Given the description of an element on the screen output the (x, y) to click on. 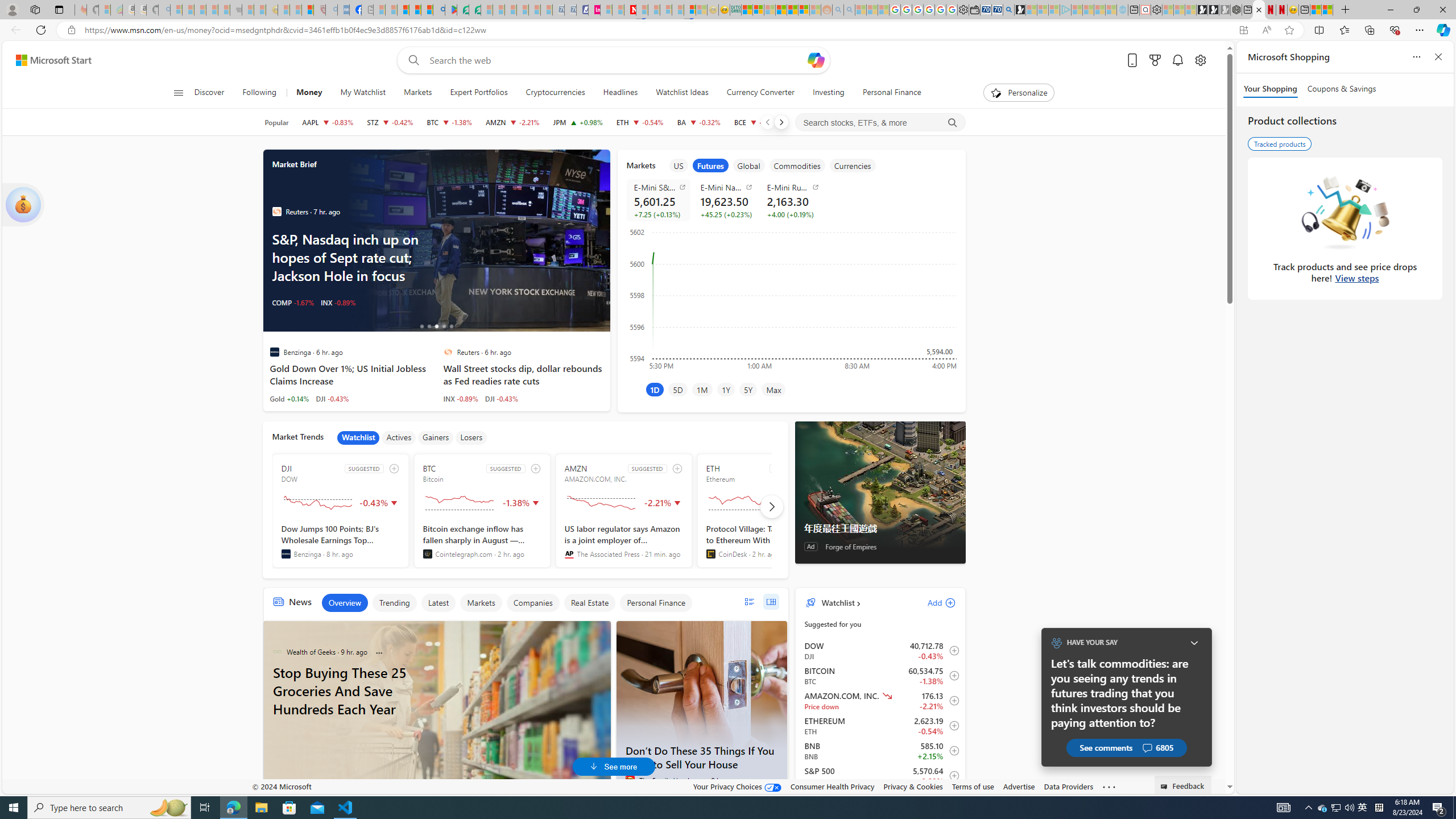
BCE BCE Inc decrease 34.55 -0.07 -0.20% (756, 122)
Headlines (620, 92)
Expert Portfolios (781, 9)
Terms of use (973, 785)
add to watchlist (676, 468)
Headlines (619, 92)
Your Privacy Choices (737, 786)
Terms of Use Agreement (462, 9)
Trending (393, 602)
